Given the description of an element on the screen output the (x, y) to click on. 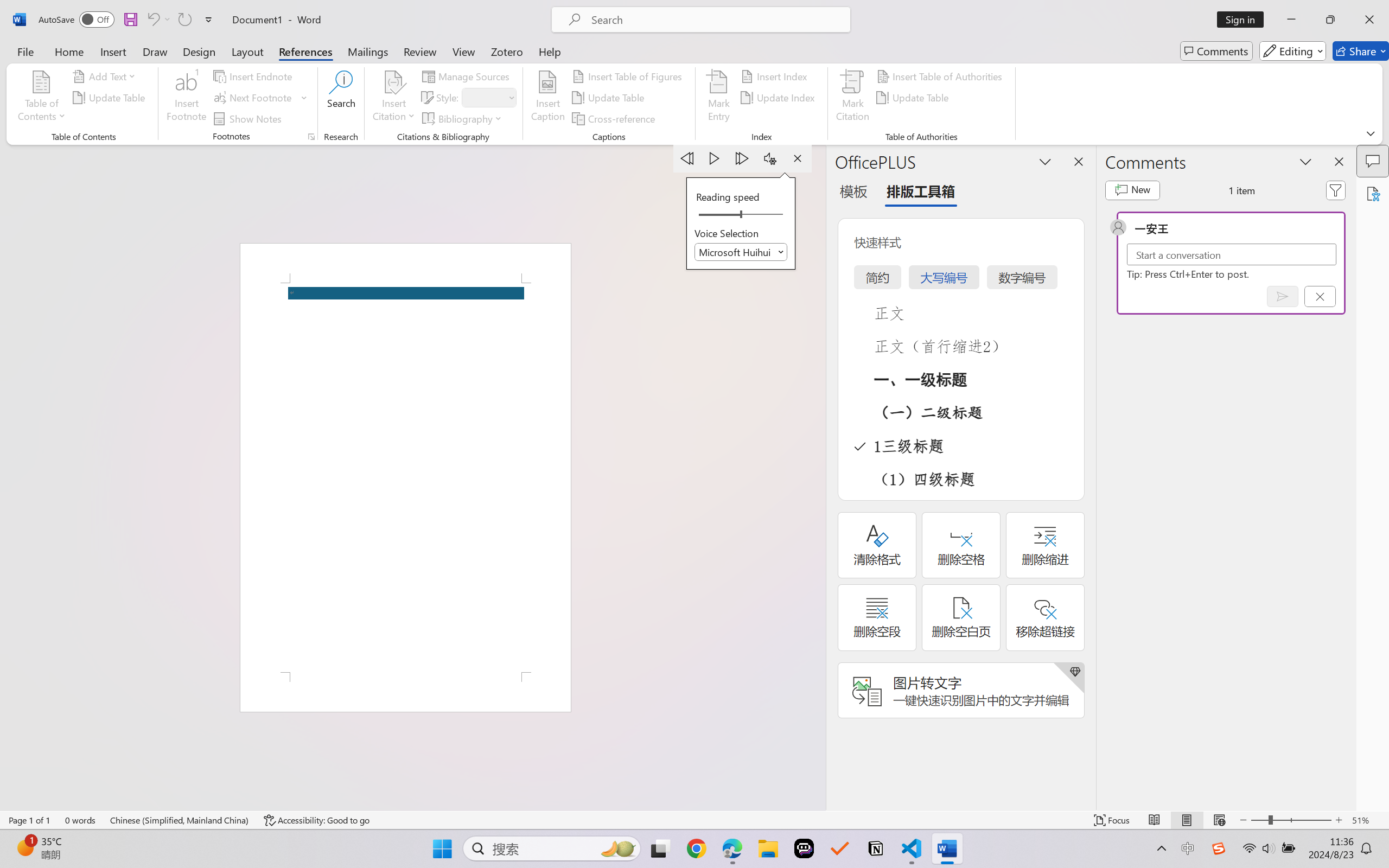
Voice Selection (740, 252)
Play (715, 158)
Settings (770, 158)
Style (483, 96)
Insert Citation (393, 97)
Cross-reference... (615, 118)
Undo Apply Quick Style Set (152, 19)
Insert Index... (775, 75)
